Given the description of an element on the screen output the (x, y) to click on. 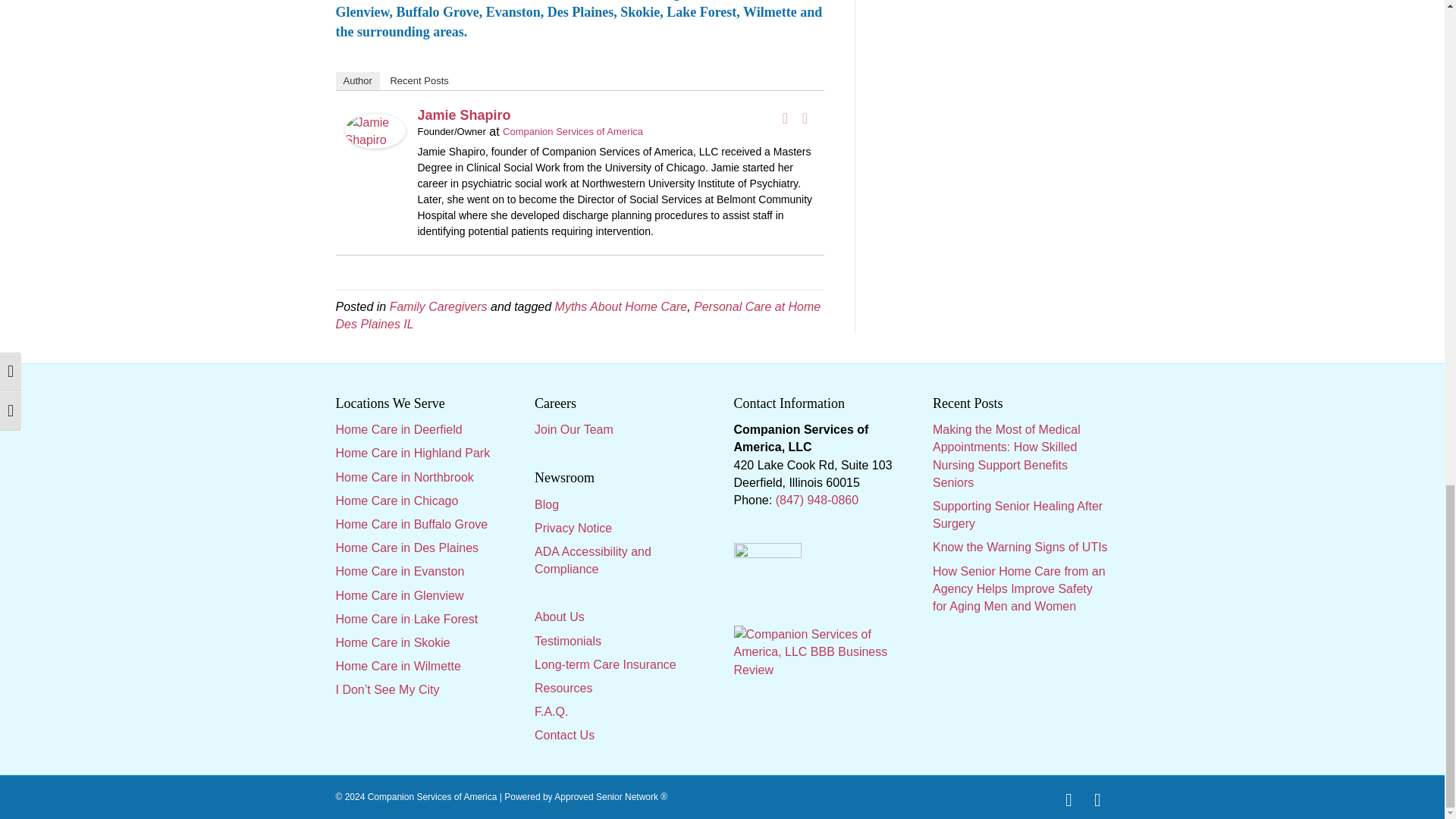
Family Caregivers (438, 306)
Facebook (785, 117)
Companion Services of America (572, 131)
Twitter (804, 117)
Author (356, 81)
Jamie Shapiro (373, 129)
Myths About Home Care (620, 306)
Recent Posts (418, 81)
Jamie Shapiro (463, 114)
